Given the description of an element on the screen output the (x, y) to click on. 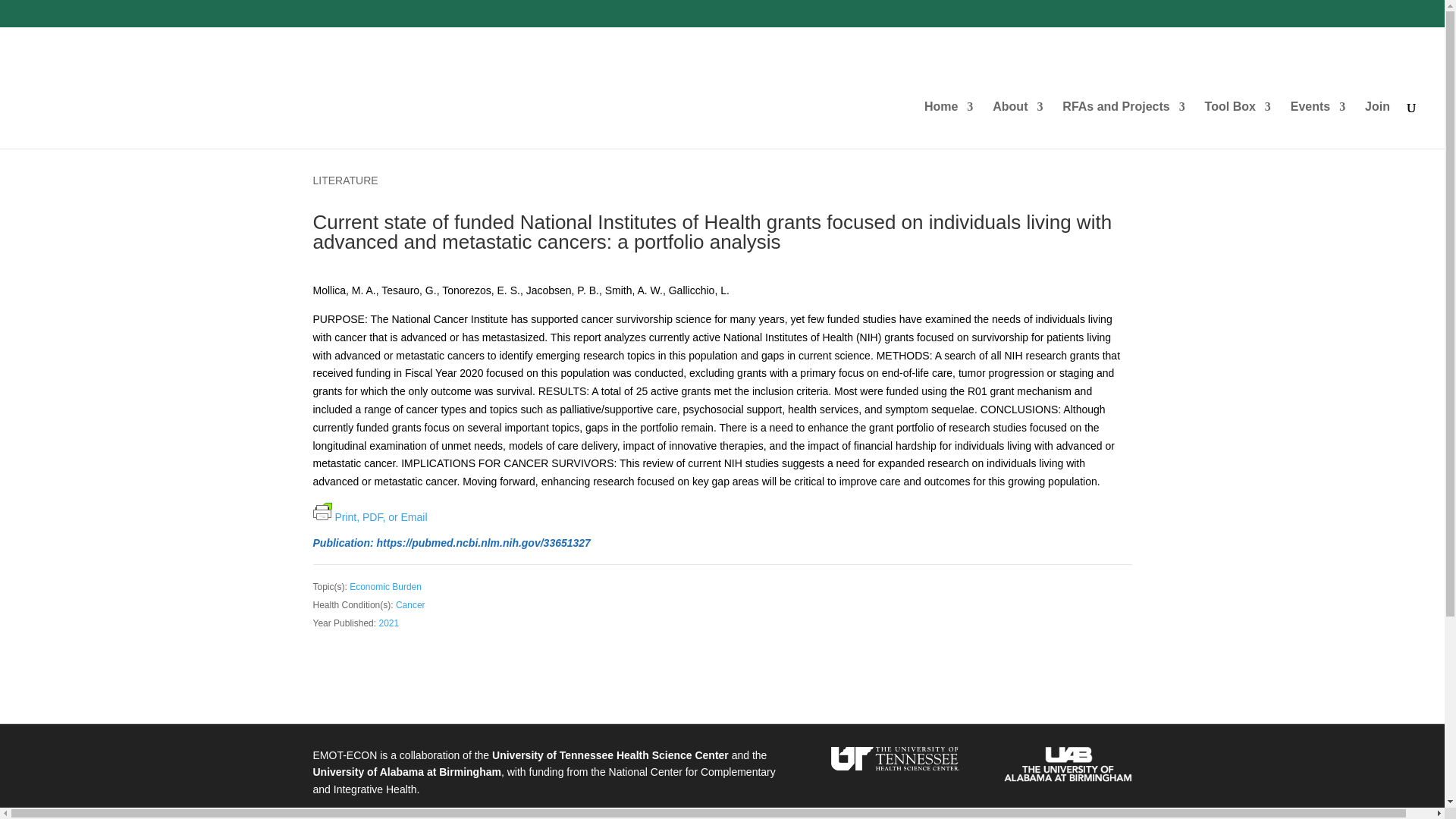
Home (948, 119)
About (1017, 119)
RFAs and Projects (1123, 119)
Events (1317, 119)
Tool Box (1238, 119)
